Given the description of an element on the screen output the (x, y) to click on. 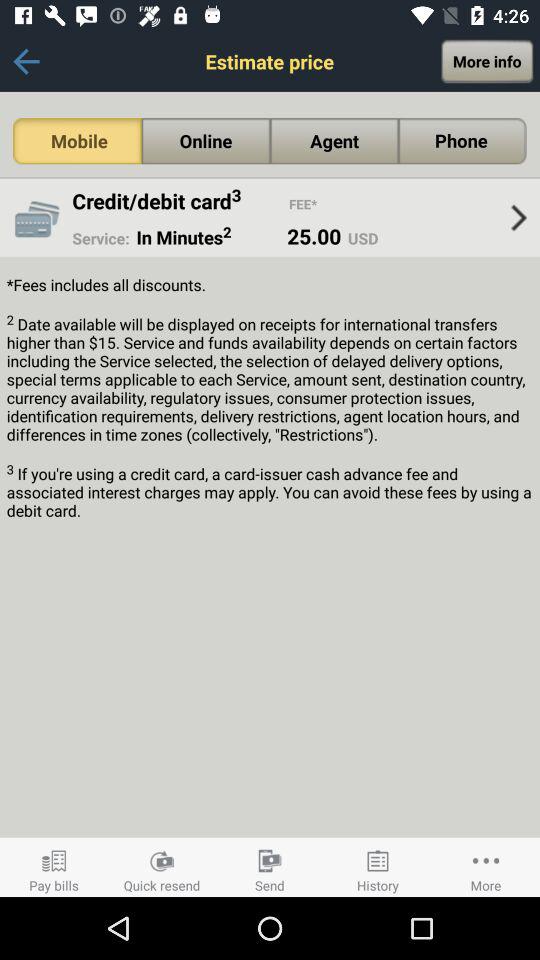
go back (26, 61)
